Given the description of an element on the screen output the (x, y) to click on. 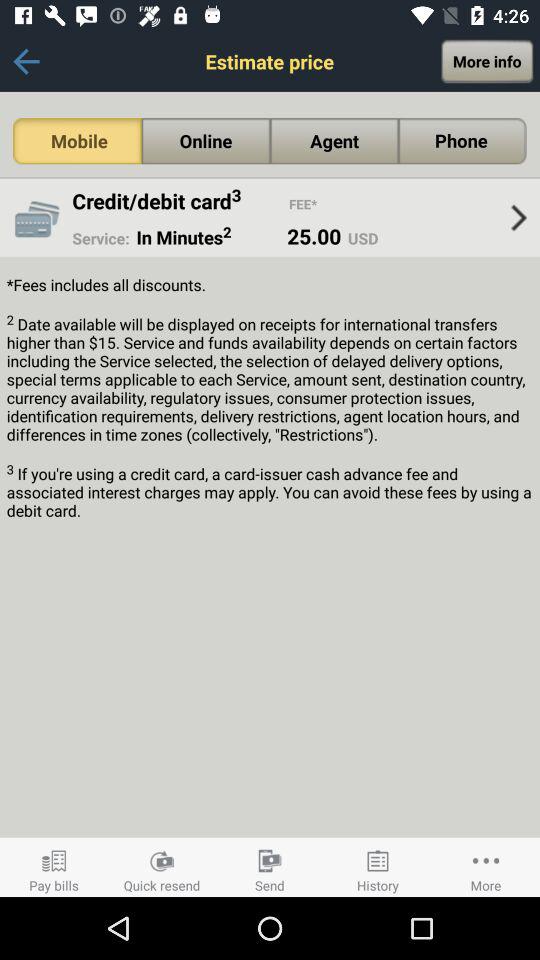
go back (26, 61)
